Given the description of an element on the screen output the (x, y) to click on. 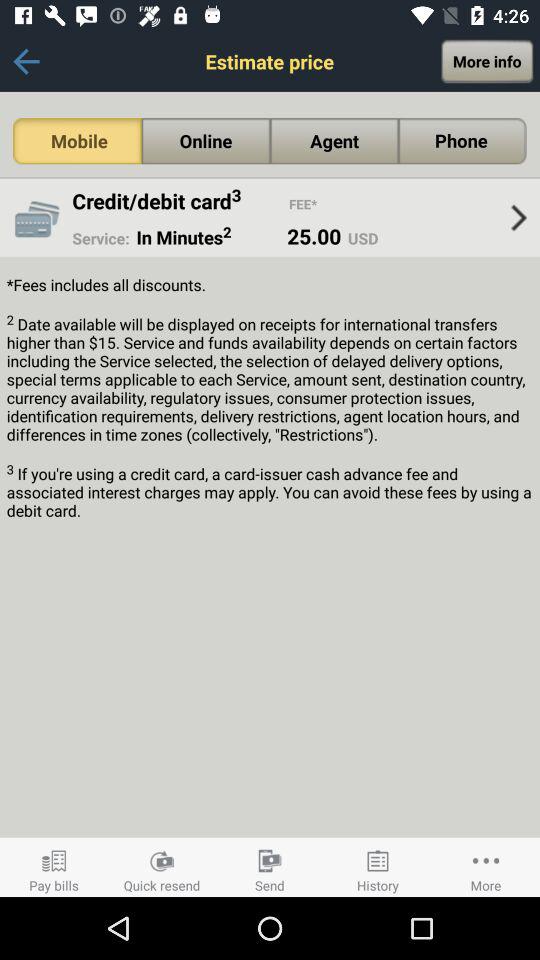
go back (26, 61)
